Given the description of an element on the screen output the (x, y) to click on. 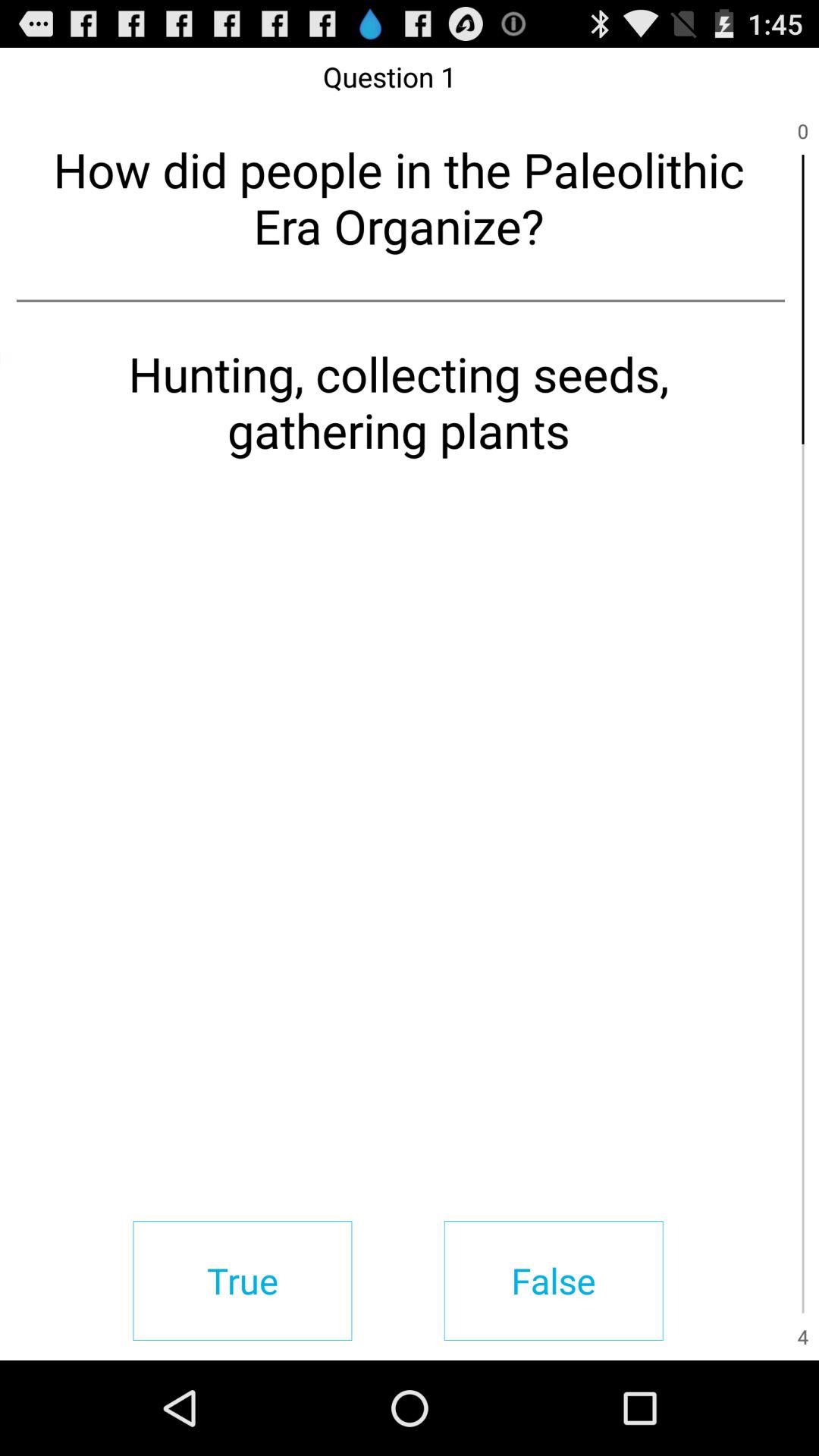
open the icon to the right of the how did people (802, 299)
